Given the description of an element on the screen output the (x, y) to click on. 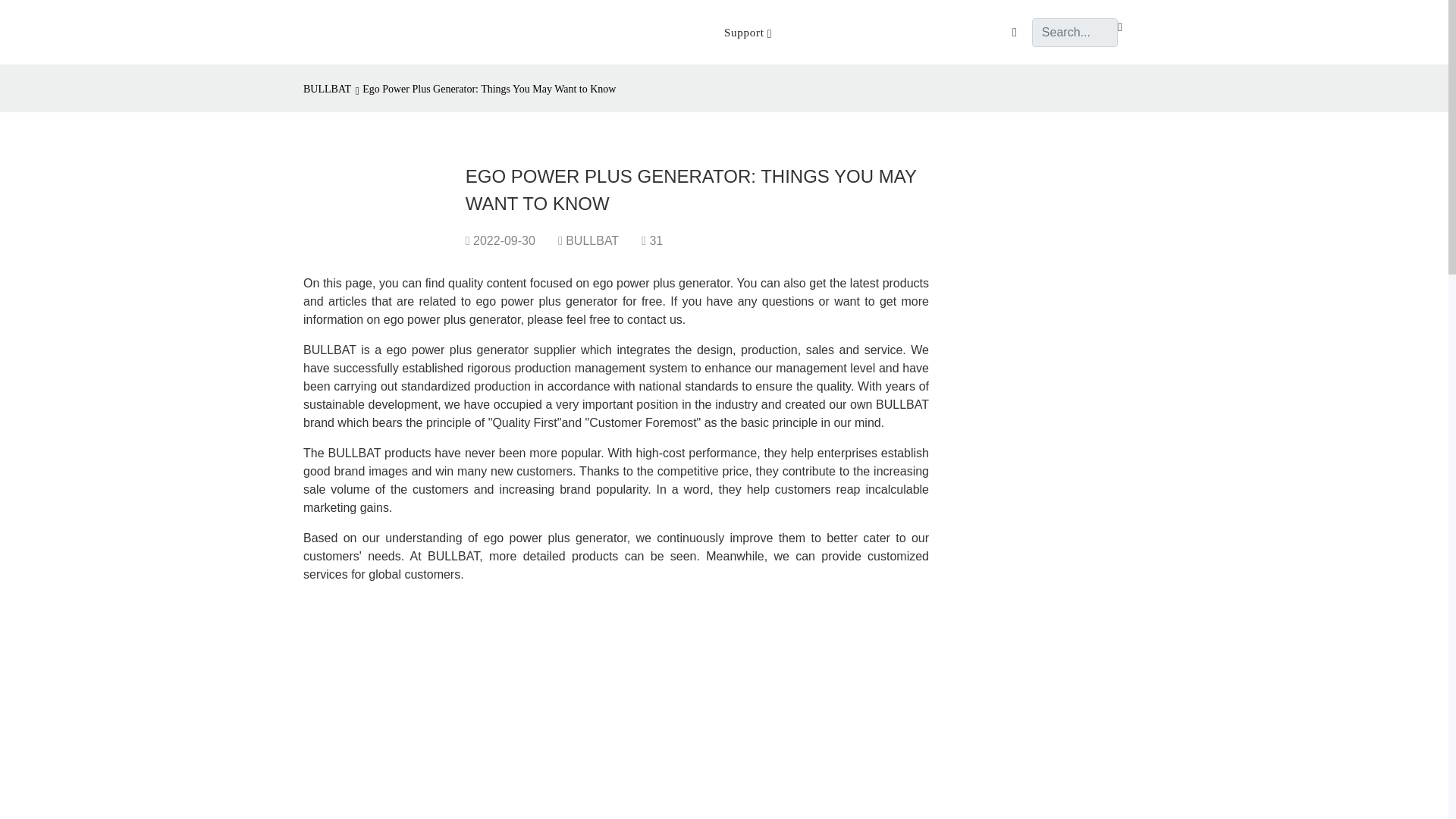
Support (747, 31)
Ego Power Plus Generator: Things You May Want to Know (489, 89)
BULLBAT (328, 89)
